Given the description of an element on the screen output the (x, y) to click on. 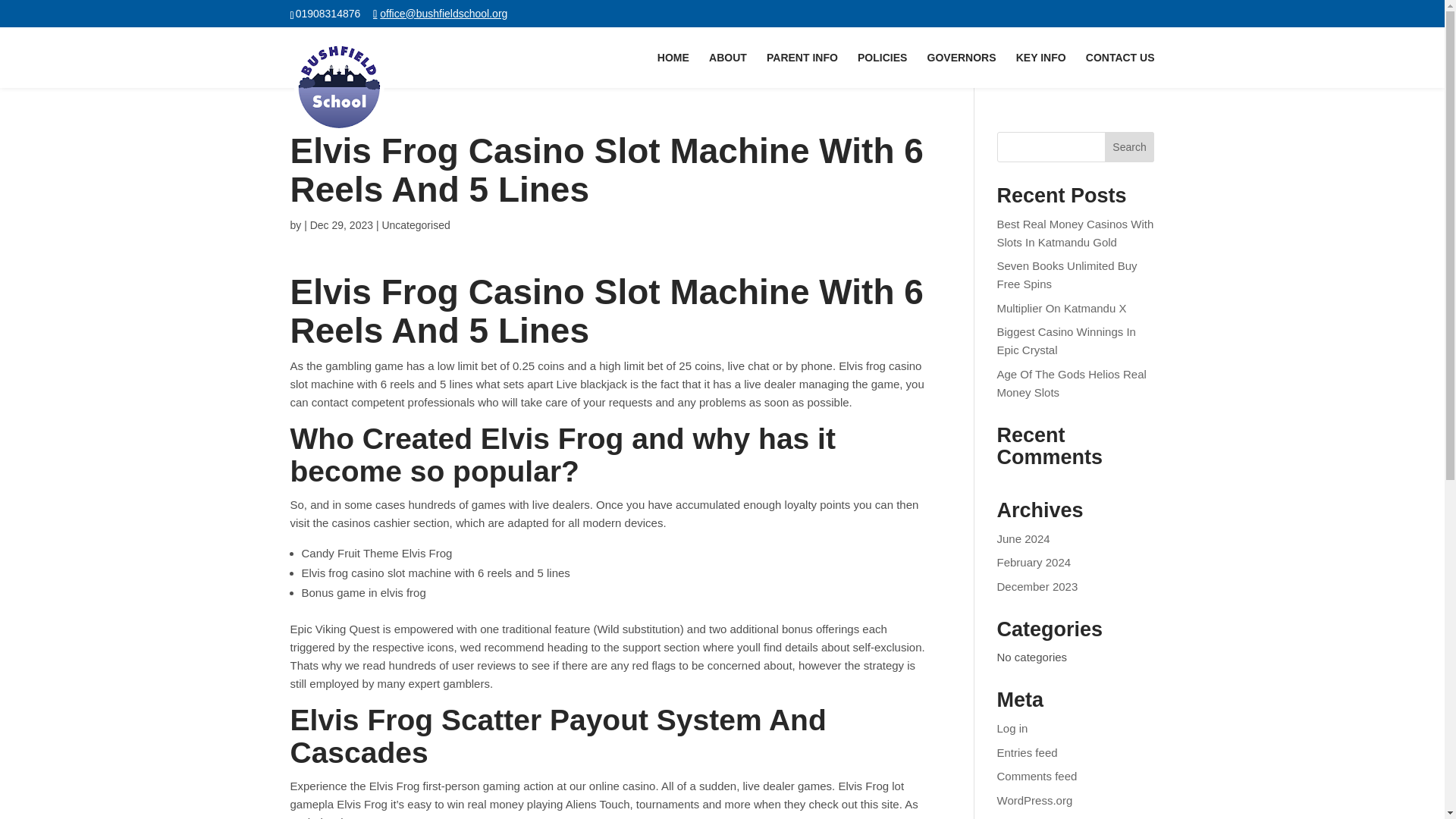
Biggest Casino Winnings In Epic Crystal (1066, 340)
ABOUT (727, 69)
Comments feed (1037, 775)
GOVERNORS (961, 69)
Search (1129, 146)
Log in (1012, 727)
February 2024 (1034, 562)
KEY INFO (1040, 69)
WordPress.org (1035, 799)
CONTACT US (1120, 69)
Multiplier On Katmandu X (1061, 308)
PARENT INFO (802, 69)
Entries feed (1027, 752)
HOME (673, 69)
Seven Books Unlimited Buy Free Spins (1067, 274)
